Given the description of an element on the screen output the (x, y) to click on. 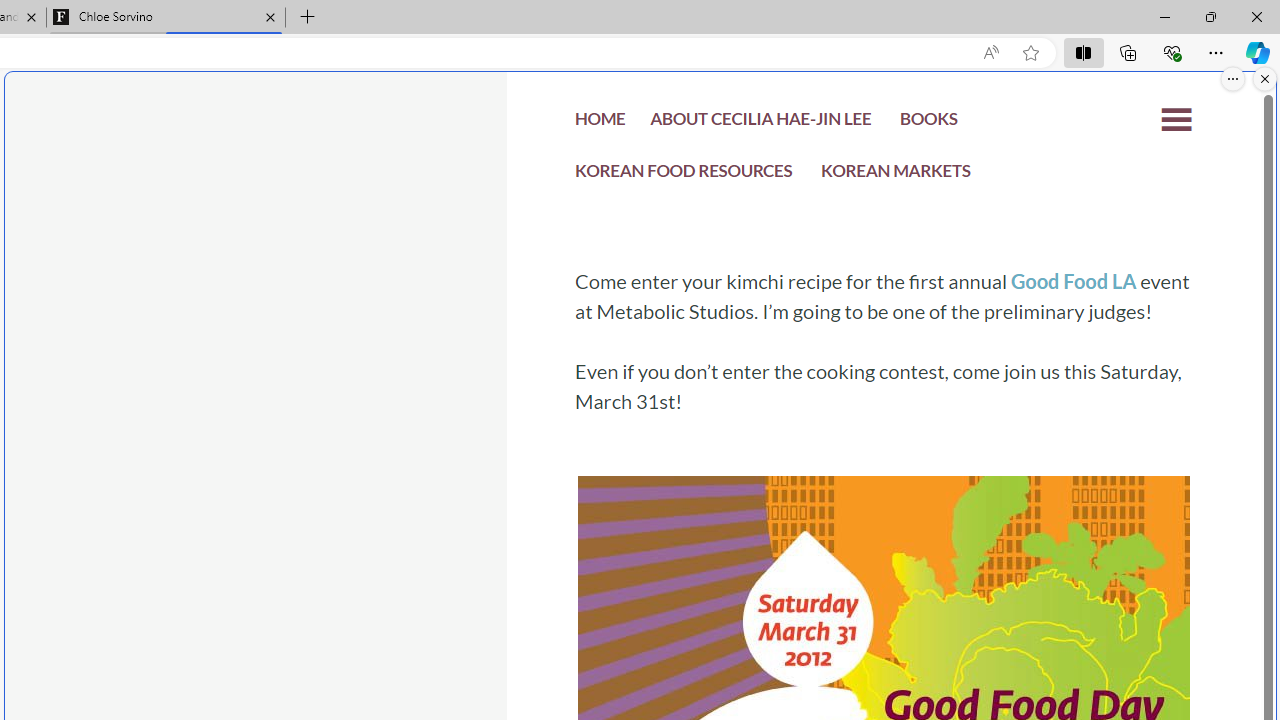
HOME (599, 121)
More options. (1233, 79)
KOREAN FOOD RESOURCES (683, 175)
HOME (599, 124)
ABOUT CECILIA HAE-JIN LEE (760, 121)
